Given the description of an element on the screen output the (x, y) to click on. 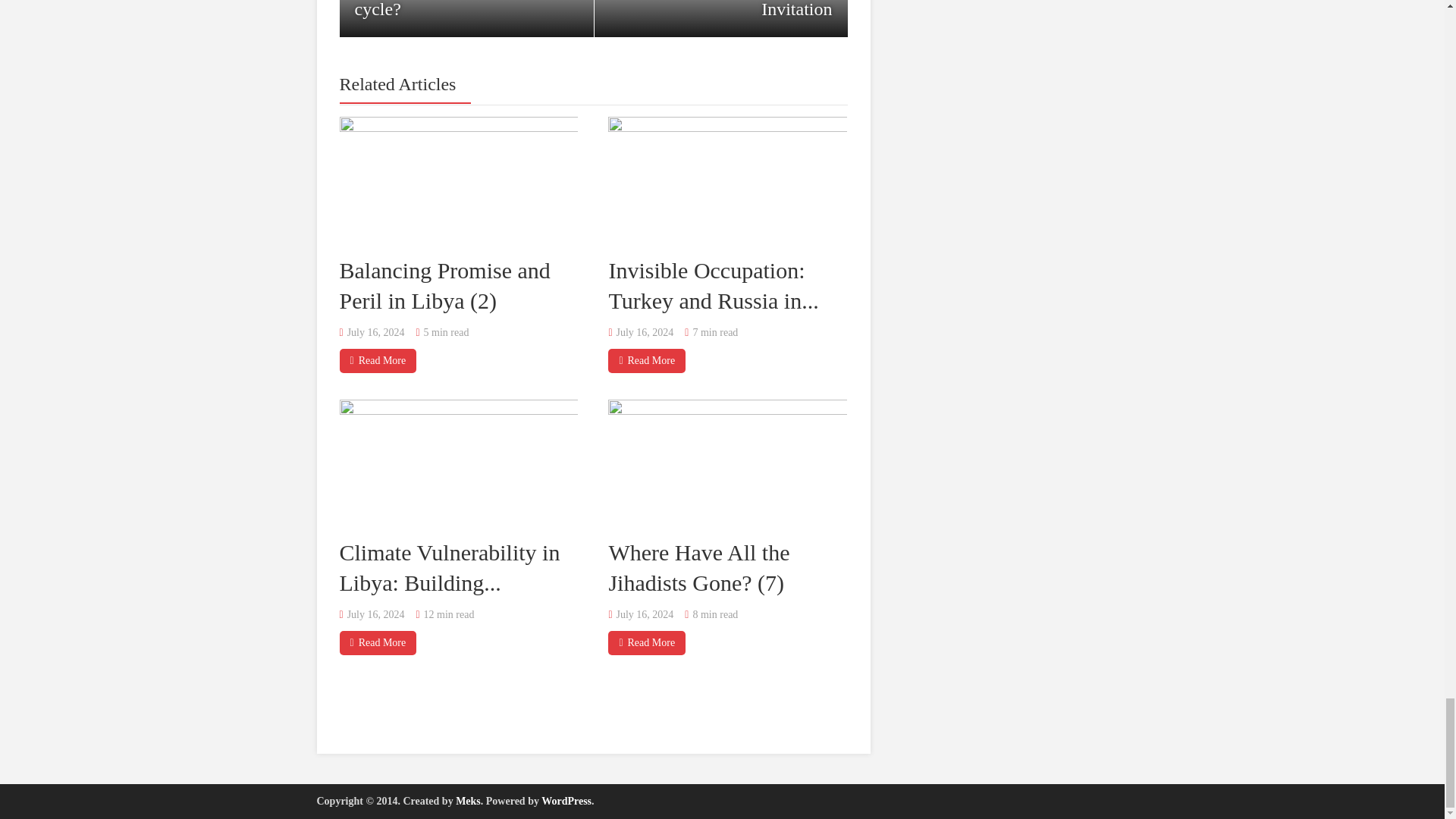
Read More (646, 360)
Climate Vulnerability in Libya: Building... (449, 567)
Invisible Occupation: Turkey and Russia in... (713, 284)
Read More (377, 642)
Read More (377, 360)
Read More (646, 642)
